Given the description of an element on the screen output the (x, y) to click on. 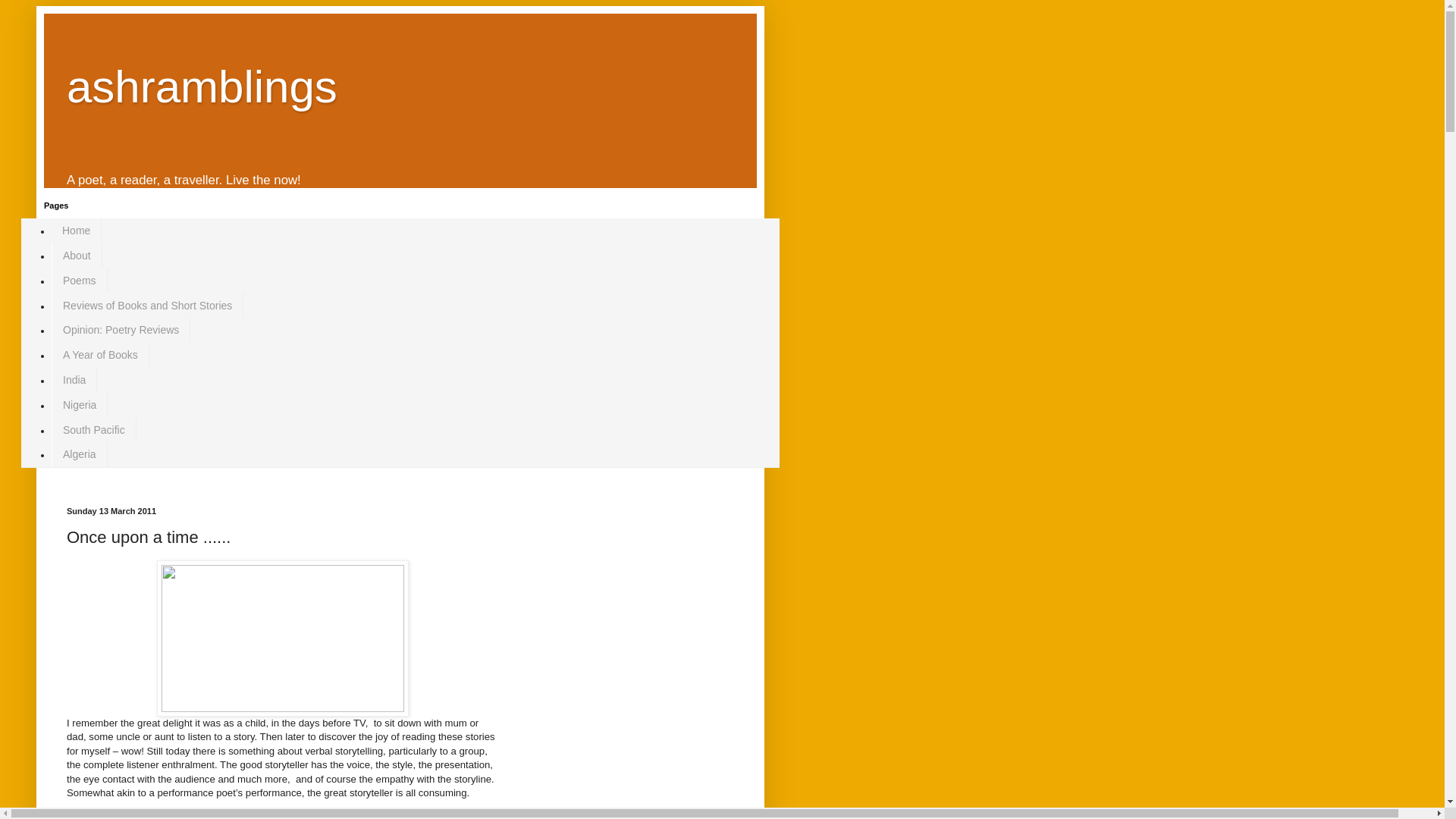
Poems (78, 280)
Nigeria (78, 404)
Algeria (78, 454)
Opinion: Poetry Reviews (120, 330)
A Year of Books (99, 355)
South Pacific (93, 429)
Home (75, 230)
ashramblings (201, 86)
About (75, 255)
India (73, 380)
Reviews of Books and Short Stories (146, 304)
